Given the description of an element on the screen output the (x, y) to click on. 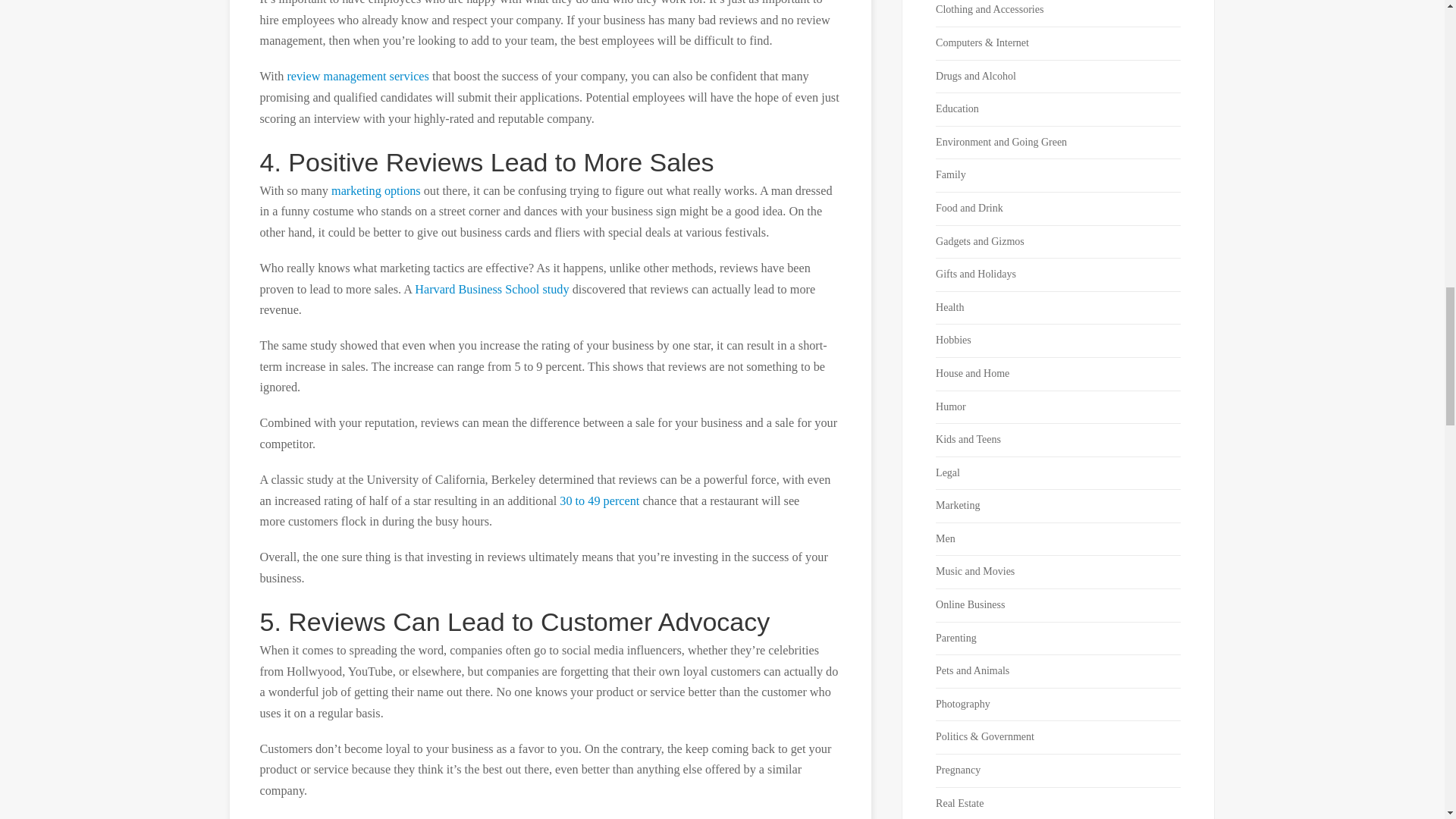
30 to 49 percent (599, 500)
review management services (357, 76)
marketing options (375, 191)
Harvard Business School study (491, 289)
